Given the description of an element on the screen output the (x, y) to click on. 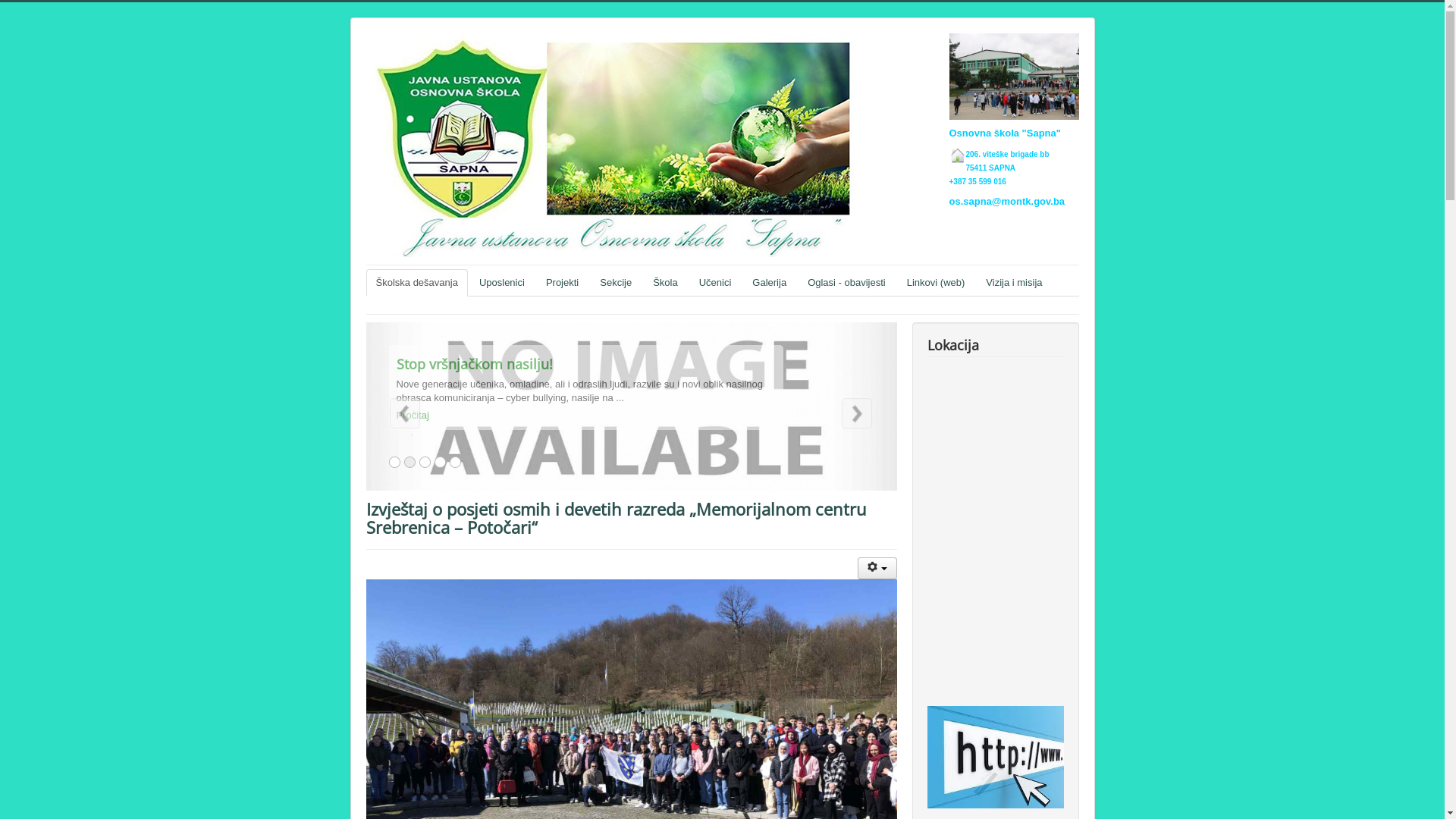
Galerija Element type: text (769, 282)
Uposlenici Element type: text (501, 282)
Linkovi (web) Element type: text (936, 282)
Oglasi - obavijesti Element type: text (846, 282)
Za nastavnike - korisni linkovi Element type: hover (994, 756)
Sekcije Element type: text (615, 282)
Projekti Element type: text (562, 282)
Vizija i misija Element type: text (1013, 282)
